Given the description of an element on the screen output the (x, y) to click on. 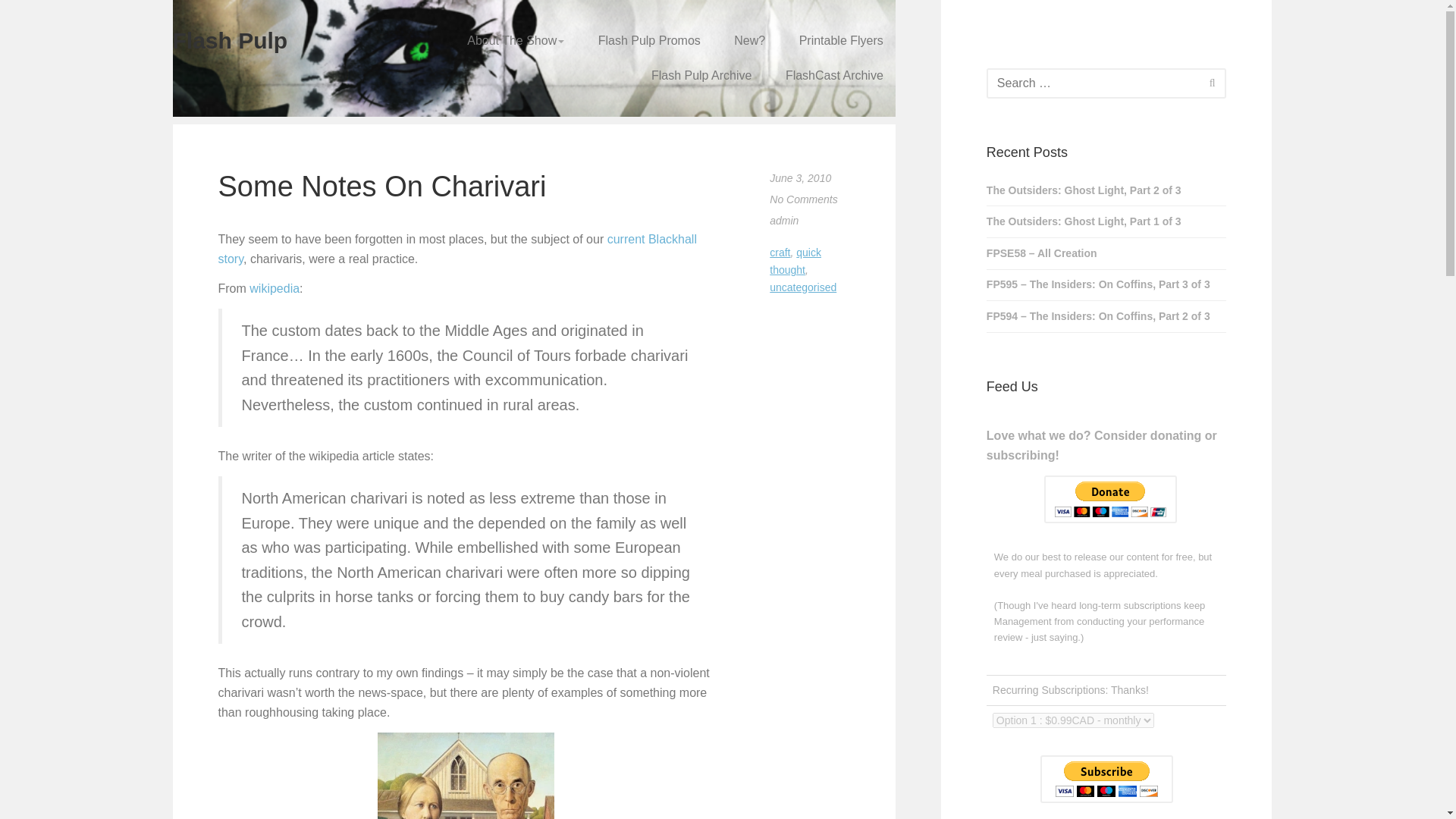
Printable Flyers (841, 40)
American Gothic (465, 775)
No Comments (803, 199)
New? (749, 40)
June 3, 2010 (800, 177)
Flash Pulp Promos (648, 40)
Flash Pulp Archive (701, 75)
craft (780, 252)
Flash Pulp (230, 40)
Search (1211, 81)
The Outsiders: Ghost Light, Part 1 of 3 (1107, 221)
About The Show (515, 40)
The Outsiders: Ghost Light, Part 2 of 3 (1107, 190)
quick thought (795, 261)
current Blackhall story (457, 248)
